Given the description of an element on the screen output the (x, y) to click on. 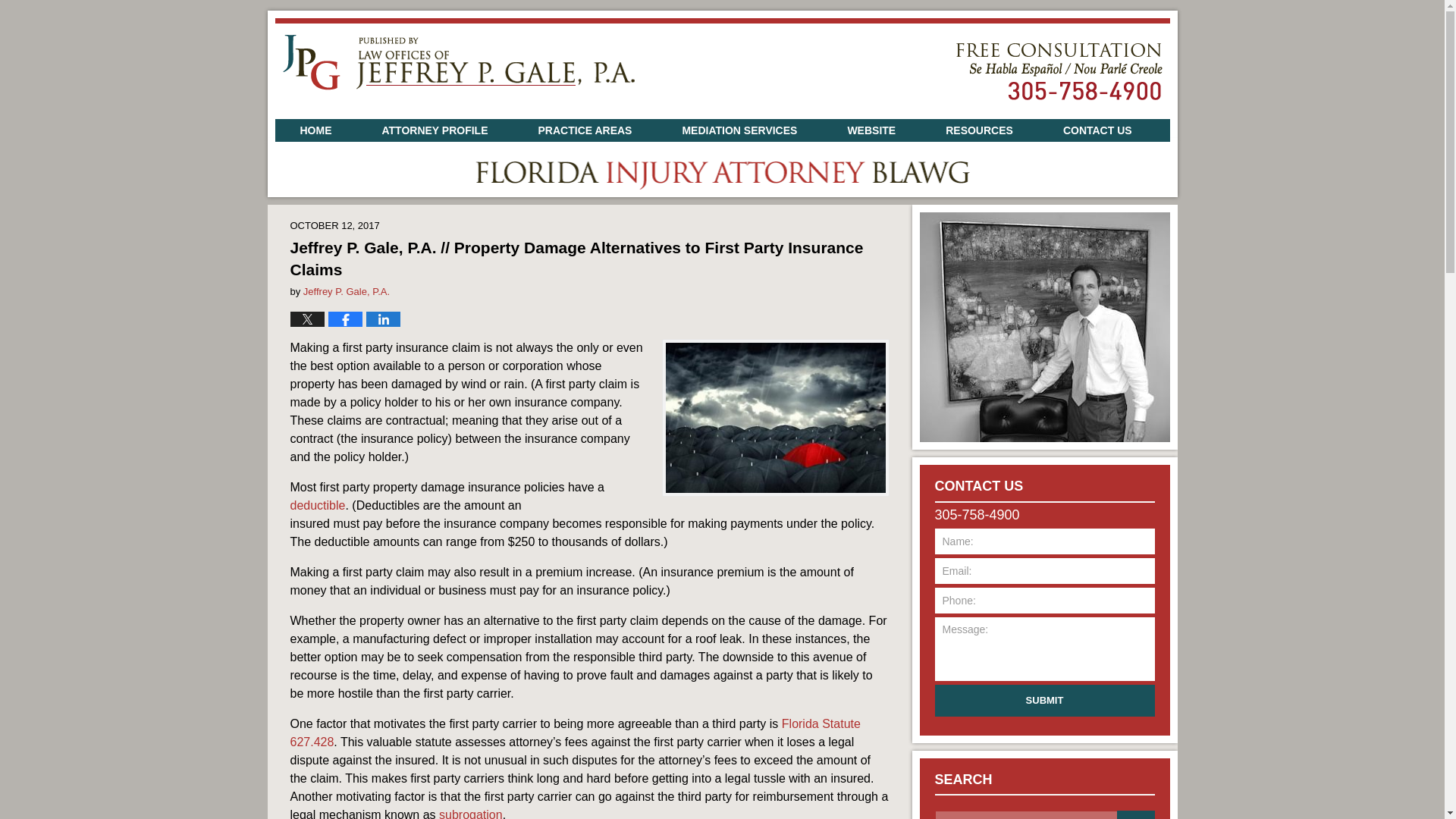
SUBMIT (1044, 700)
Published By Jeffrey P. Gale, P.A. (1058, 70)
subrogation (470, 813)
RESOURCES (979, 129)
Florida Statute 627.428 (574, 732)
MEDIATION SERVICES (739, 129)
CONTACT US (1097, 129)
Jeffrey P. Gale, P.A. (346, 291)
SEARCH (1135, 814)
ATTORNEY PROFILE (434, 129)
